Given the description of an element on the screen output the (x, y) to click on. 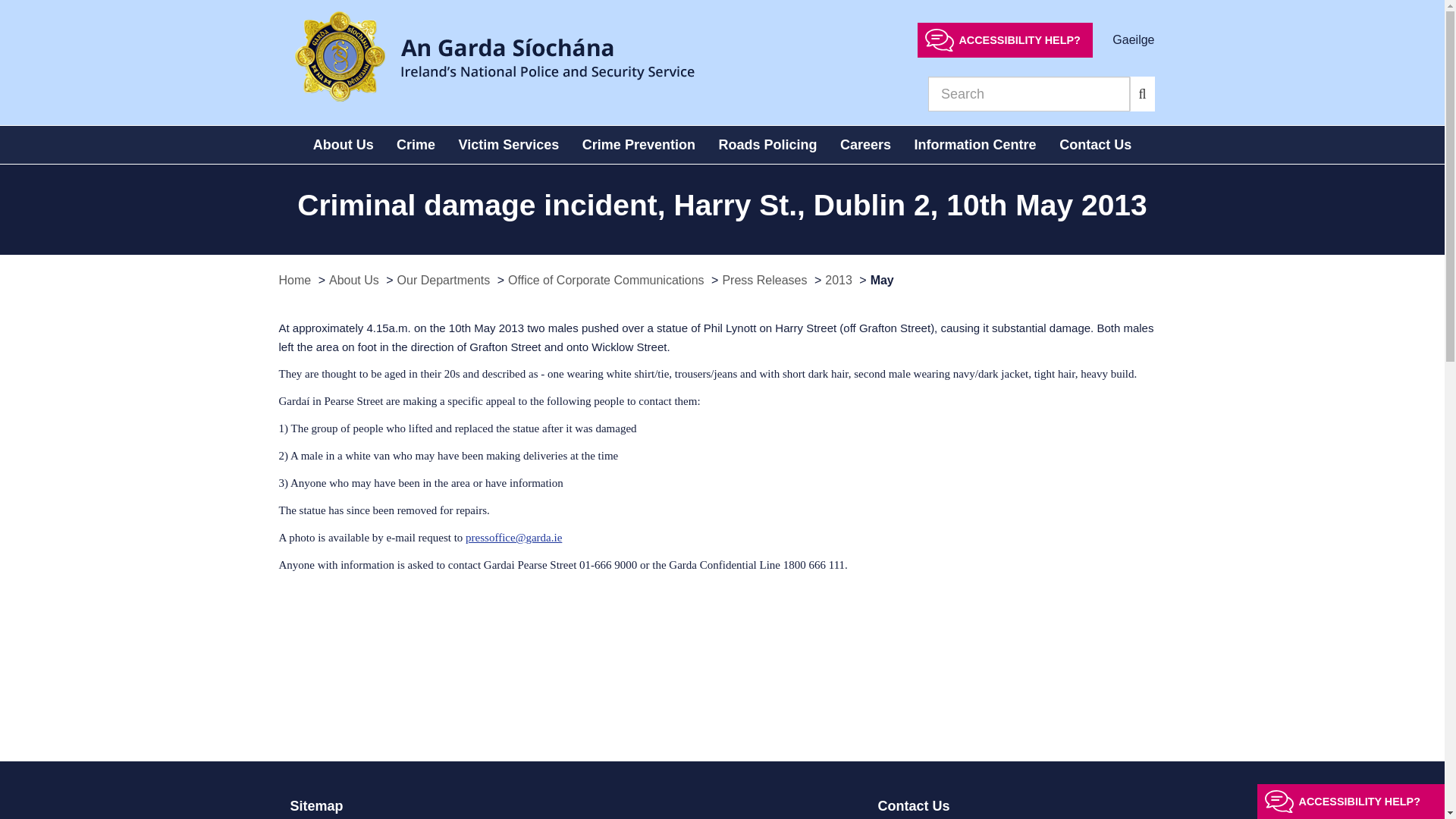
ACCESSIBILITY HELP? (1005, 39)
Gaeilge (1133, 39)
Crime (415, 144)
About Us (343, 144)
